Given the description of an element on the screen output the (x, y) to click on. 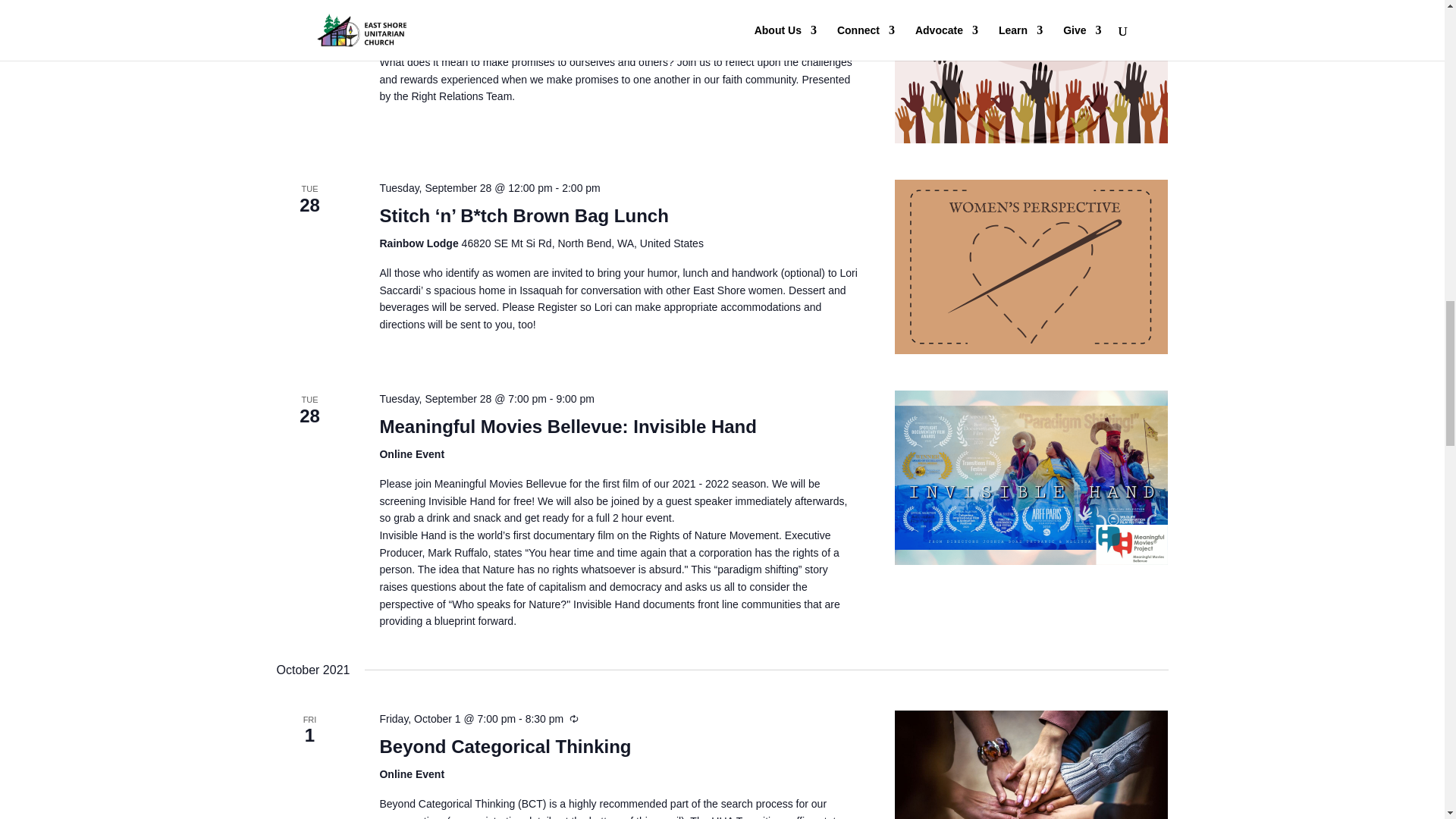
Recurring (573, 718)
